Given the description of an element on the screen output the (x, y) to click on. 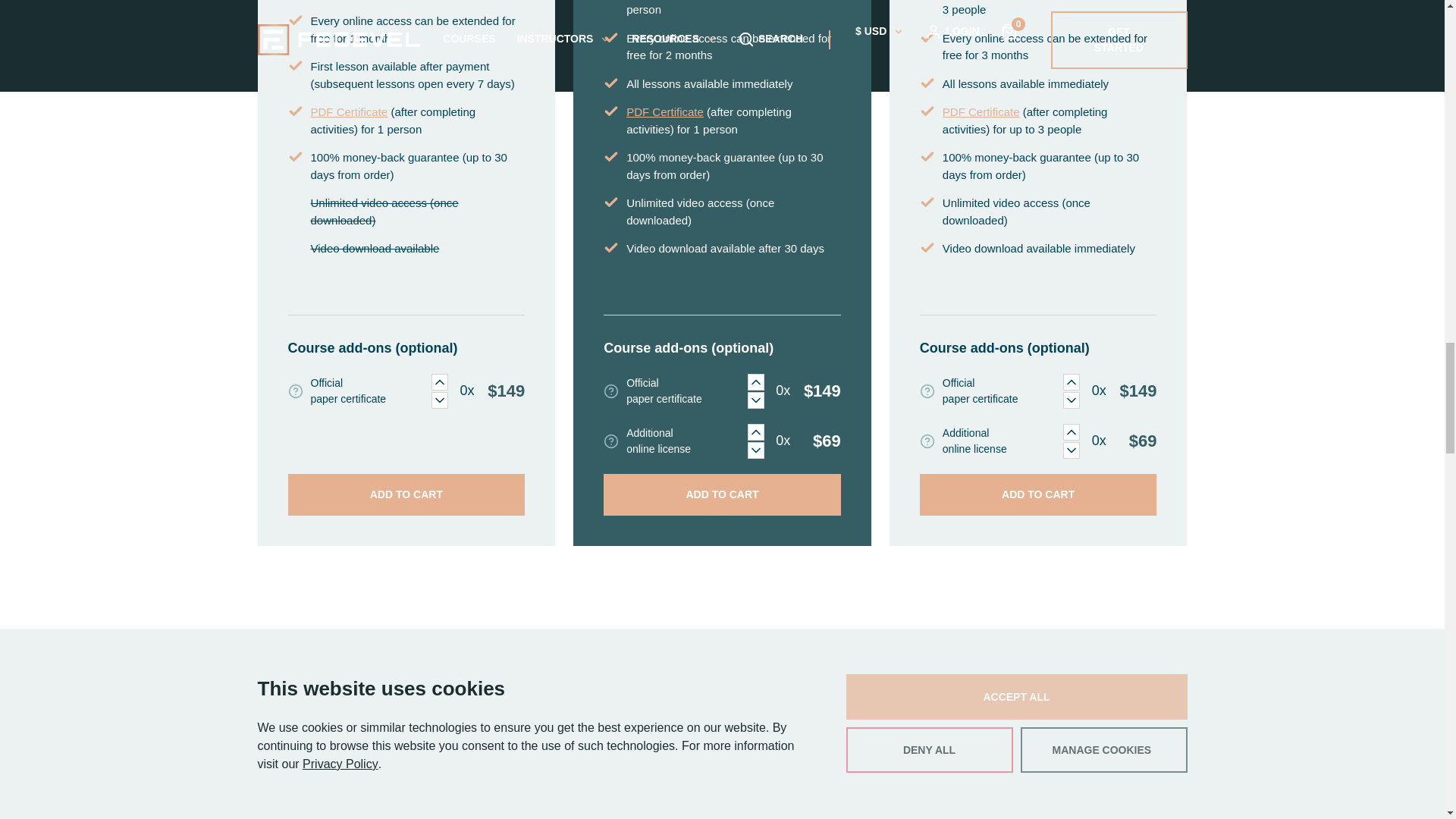
Paper version of course certificate (611, 390)
PDF Certificate (981, 112)
Paper version of course certificate (295, 390)
ADD TO CART (722, 494)
PDF Certificate (349, 112)
PDF Certificate (664, 112)
Paper version of course certificate (927, 390)
ADD TO CART (1038, 494)
ADD TO CART (406, 494)
